Given the description of an element on the screen output the (x, y) to click on. 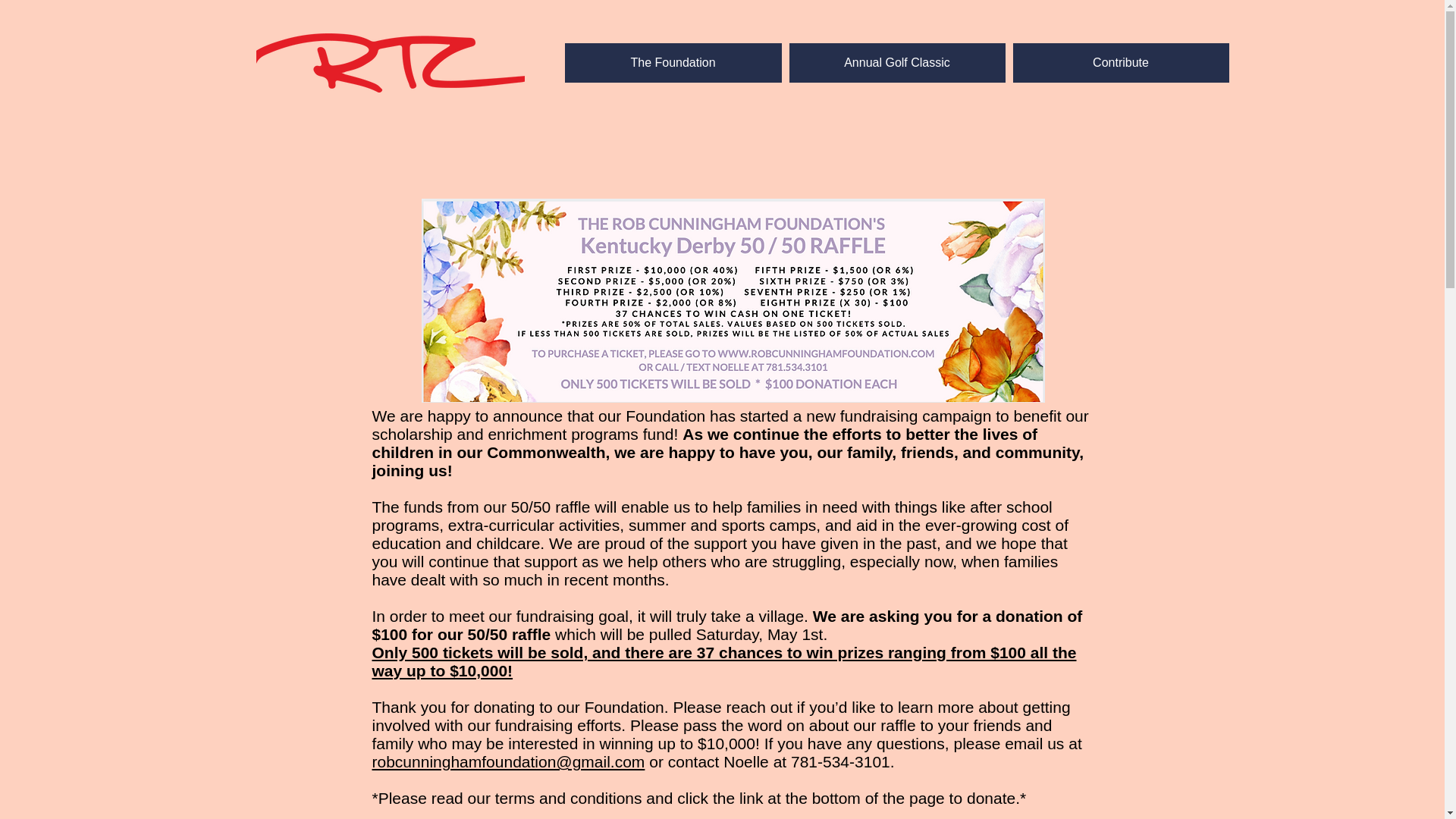
Screen Shot 2021-03-19 at 11.41.37 AM.pn (733, 300)
Contribute (1120, 62)
Annual Golf Classic (896, 62)
781-534-3101. (842, 761)
 or contact Noelle at (717, 761)
The Foundation (672, 62)
